Given the description of an element on the screen output the (x, y) to click on. 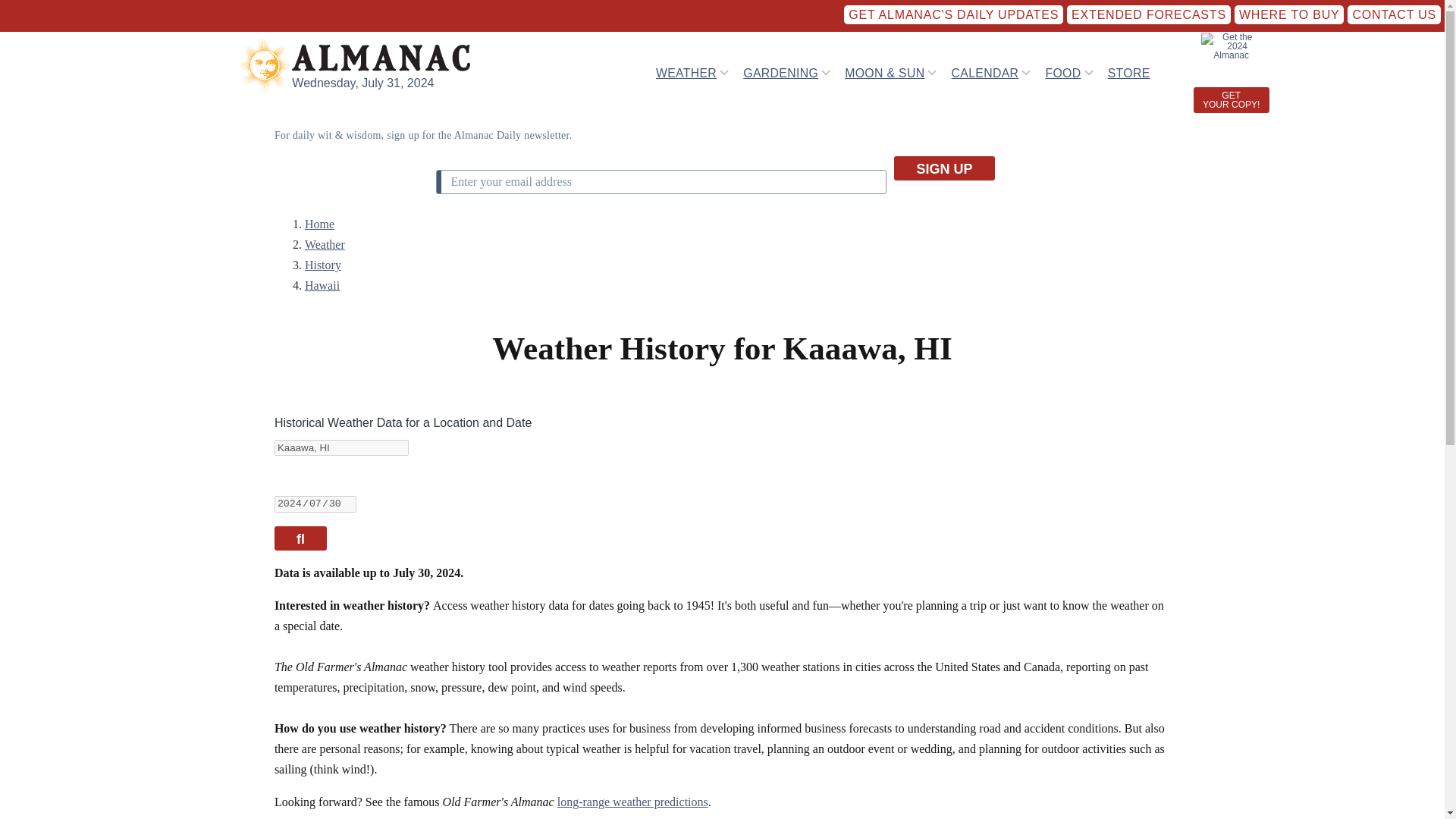
Sign Up (943, 168)
WHERE TO BUY (1288, 14)
EXTENDED FORECASTS (1148, 14)
2024-07-30 (315, 503)
Kaaawa, HI (342, 447)
GET ALMANAC'S DAILY UPDATES (953, 14)
Long-Range Weather Predictions (632, 801)
Wednesday, July 31, 2024 (362, 82)
GARDENING (780, 72)
CONTACT US (1394, 14)
Skip to main content (595, 6)
